Given the description of an element on the screen output the (x, y) to click on. 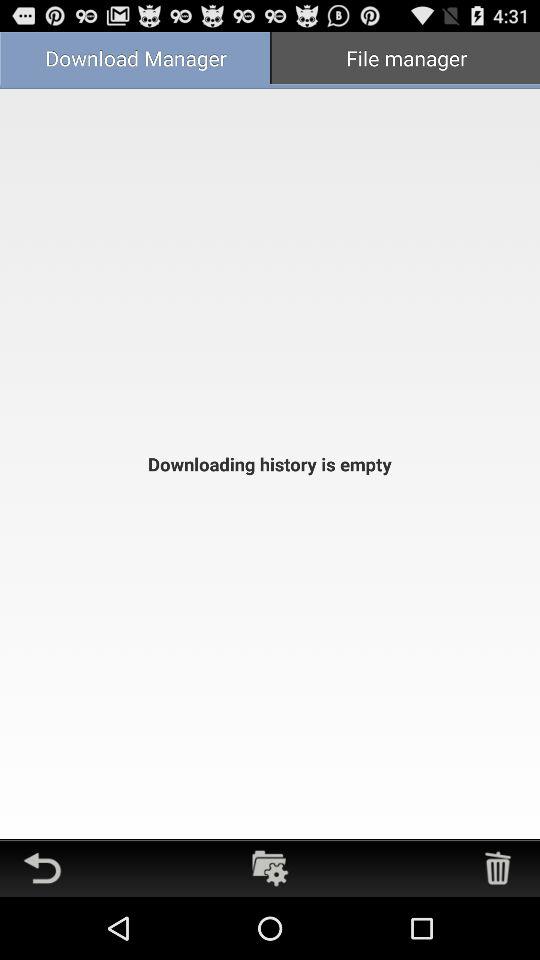
flip until download manager (135, 60)
